Given the description of an element on the screen output the (x, y) to click on. 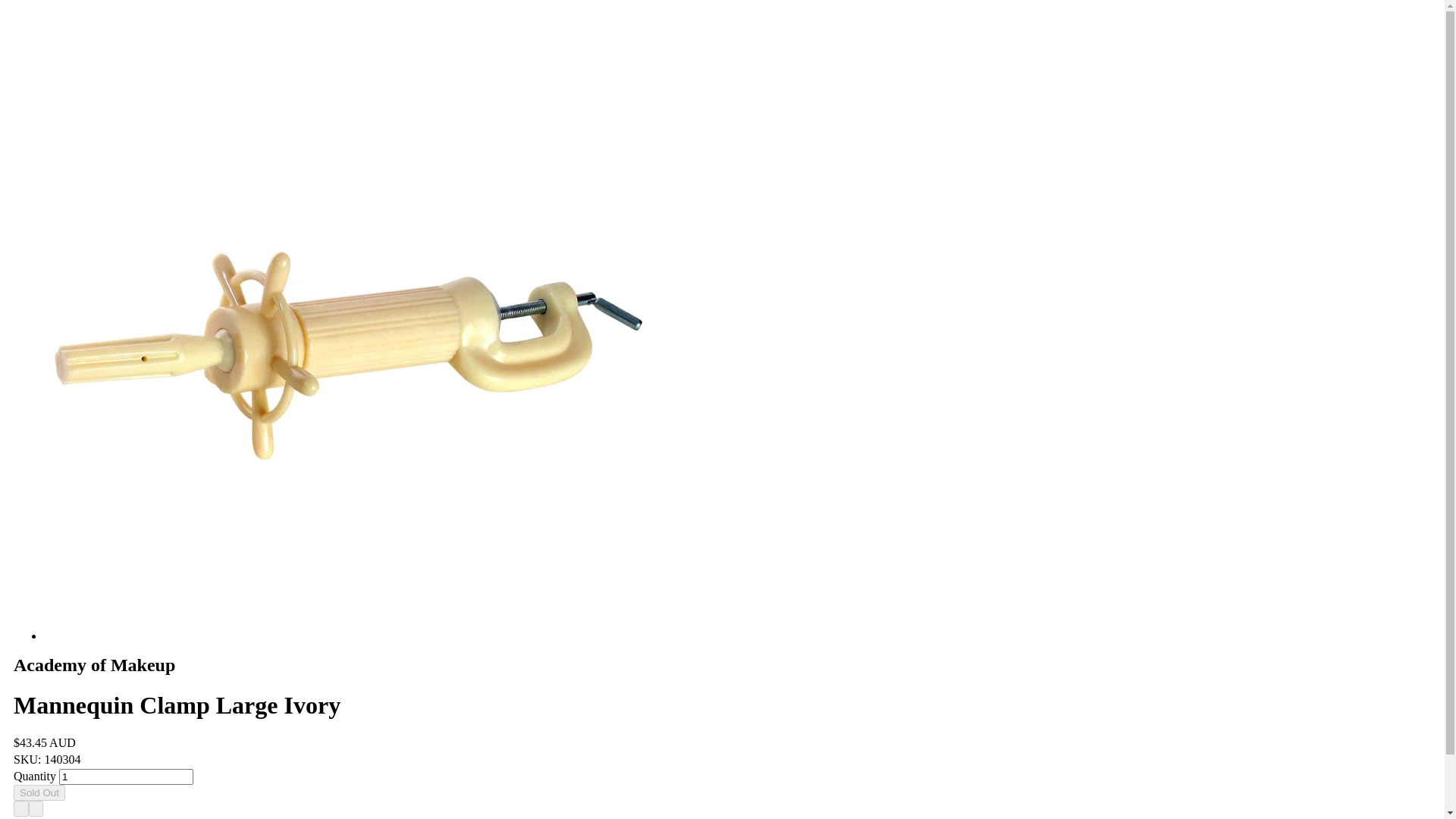
  Element type: text (35, 808)
  Element type: text (20, 808)
Sold Out Element type: text (39, 792)
